Given the description of an element on the screen output the (x, y) to click on. 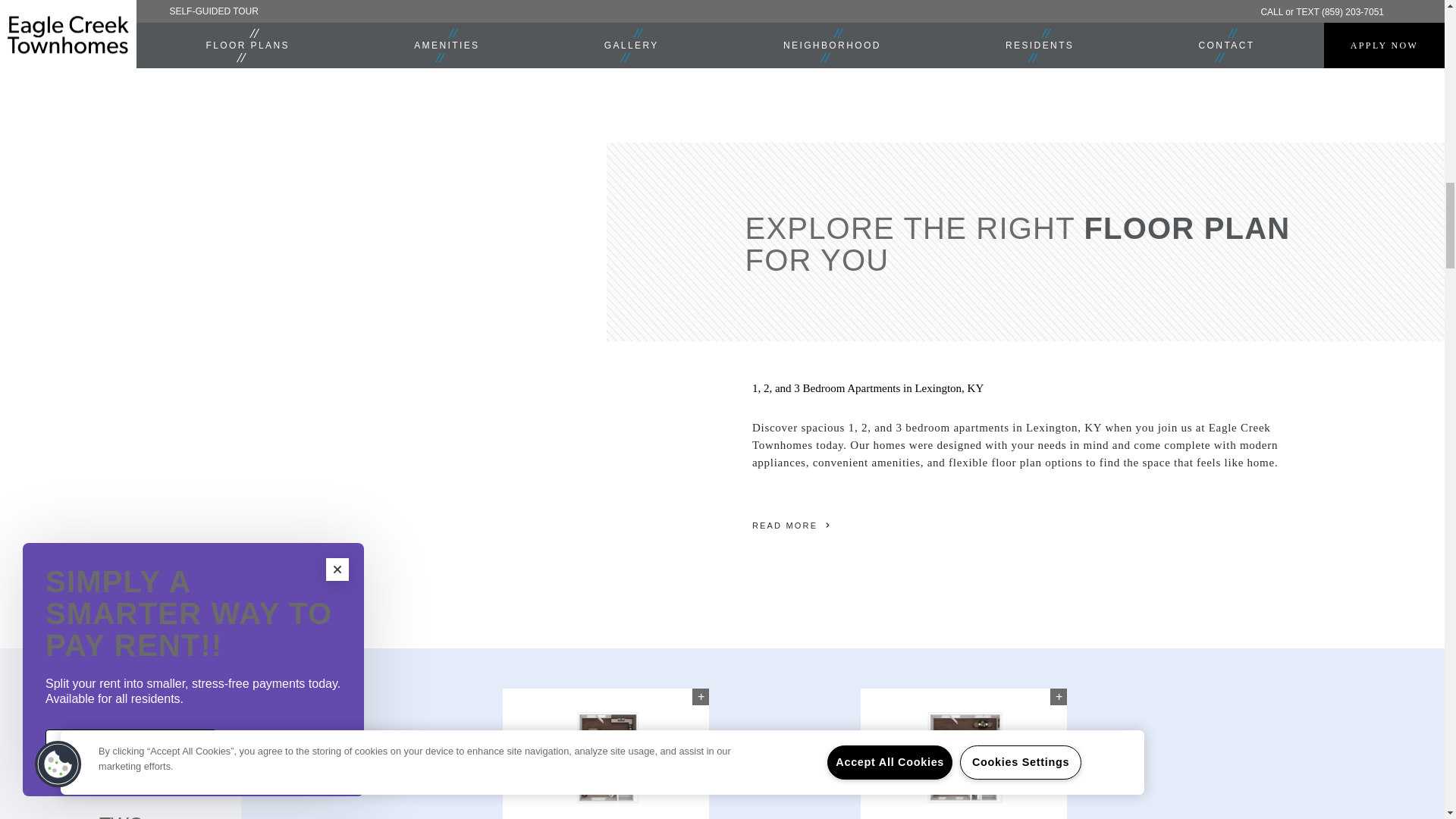
TWO (119, 811)
READ MORE (1029, 525)
ONE (119, 783)
